Given the description of an element on the screen output the (x, y) to click on. 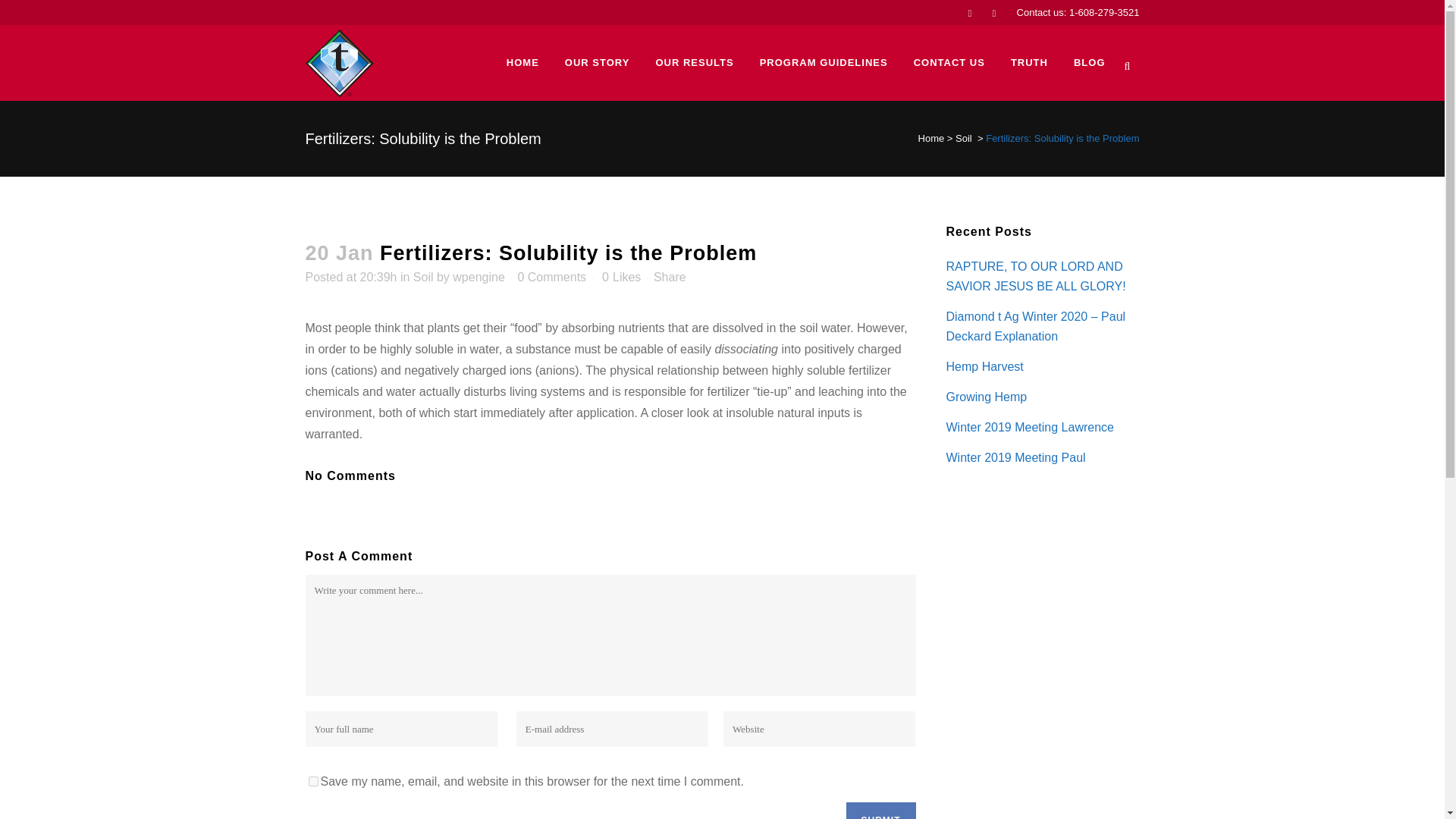
0 Likes (621, 276)
Submit (880, 810)
OUR STORY (597, 62)
Home (931, 138)
CONTACT US (949, 62)
OUR RESULTS (693, 62)
RAPTURE, TO OUR LORD AND SAVIOR JESUS BE ALL GLORY! (1035, 276)
0 Comments (551, 277)
Hemp Harvest (984, 366)
Soil (423, 277)
wpengine (478, 277)
Soil (963, 138)
Share (669, 277)
TRUTH (1029, 62)
Like this (621, 276)
